Given the description of an element on the screen output the (x, y) to click on. 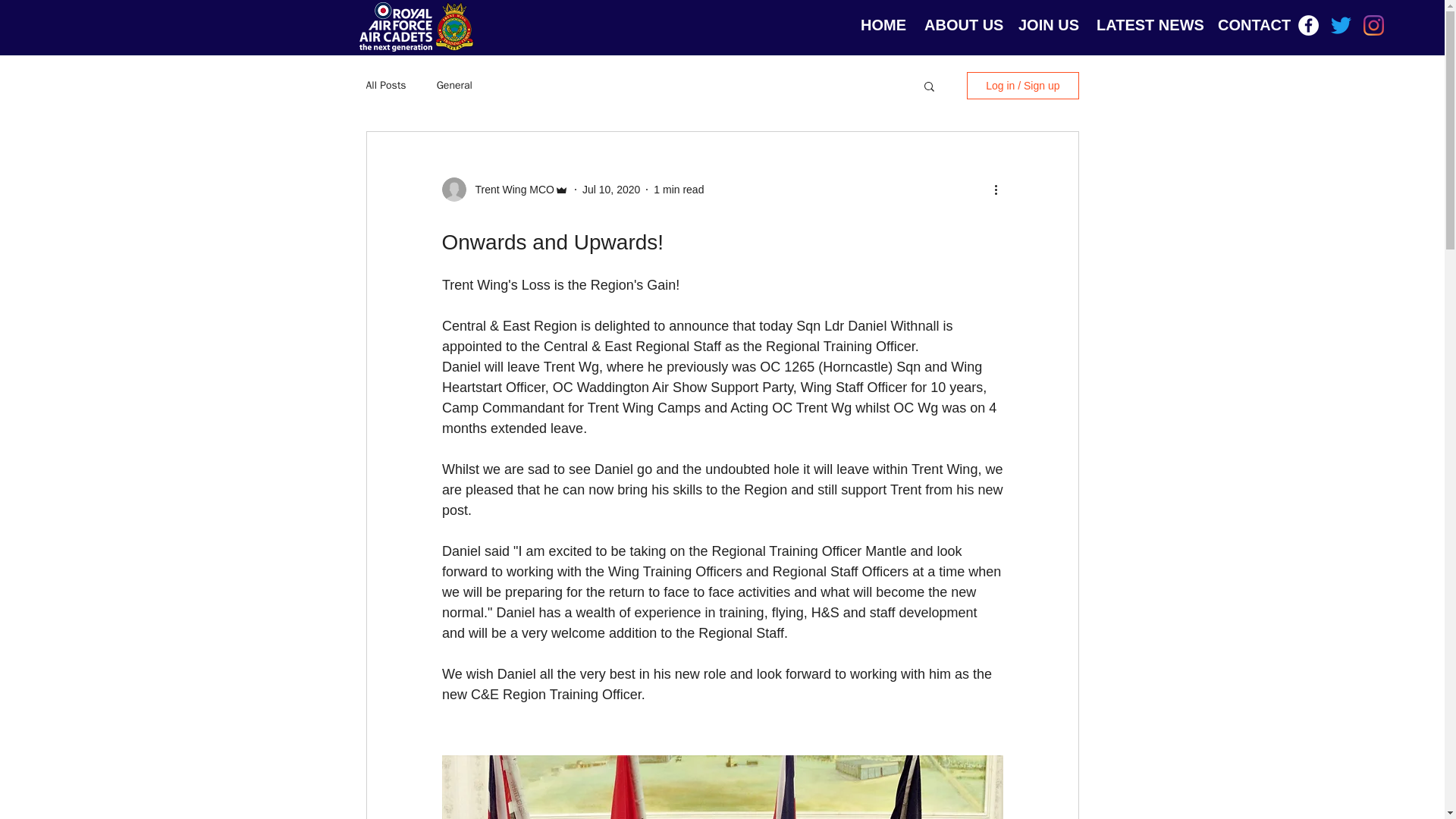
Jul 10, 2020 (611, 189)
ABOUT US (959, 24)
Trent Wing MCO (509, 189)
CONTACT (1251, 24)
1 min read (678, 189)
All Posts (385, 85)
LATEST NEWS (1145, 24)
HOME (880, 24)
General (453, 85)
JOIN US (1045, 24)
